Given the description of an element on the screen output the (x, y) to click on. 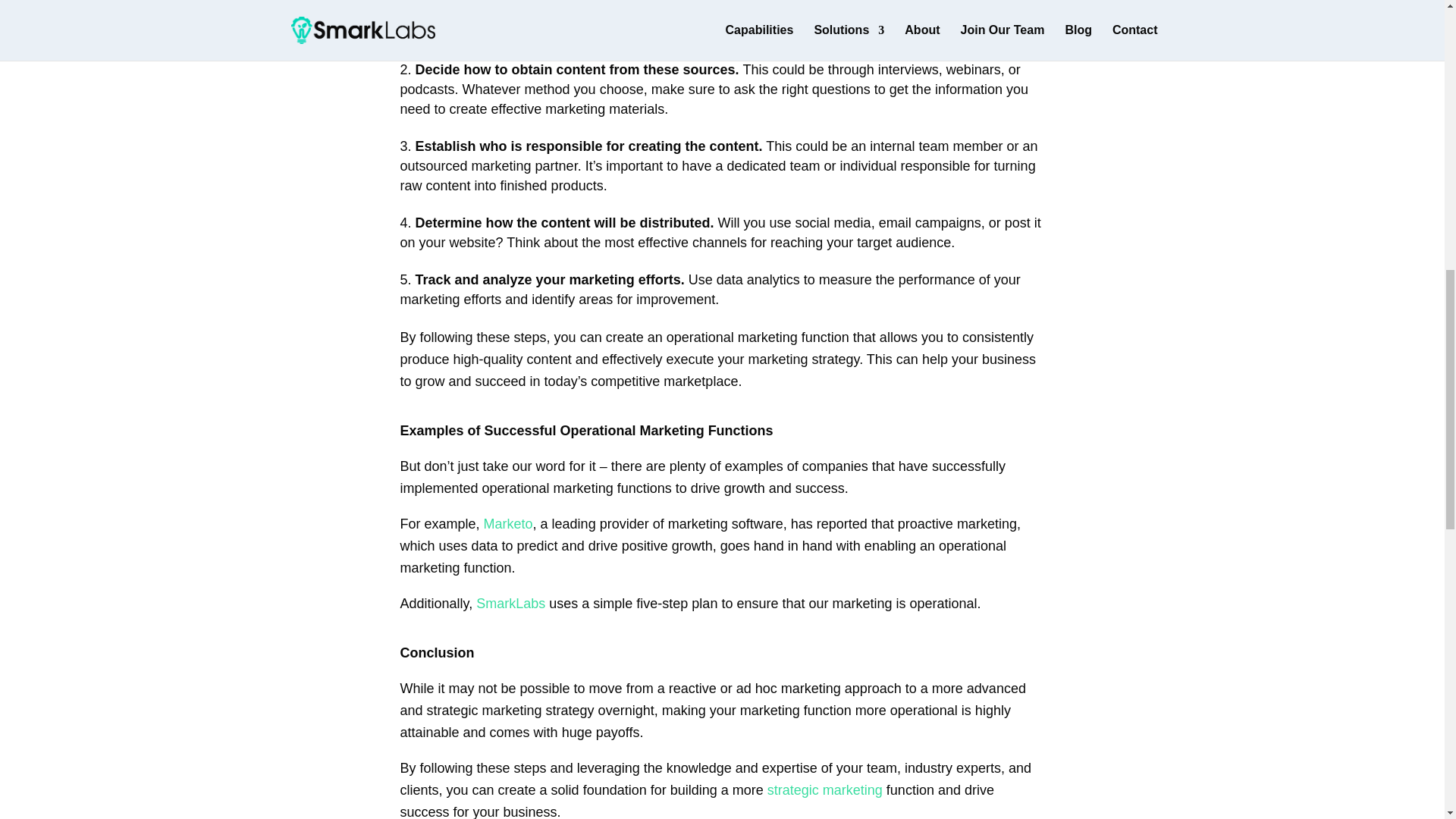
SmarkLabs (510, 603)
Marketo (507, 523)
strategic marketing (824, 789)
